Given the description of an element on the screen output the (x, y) to click on. 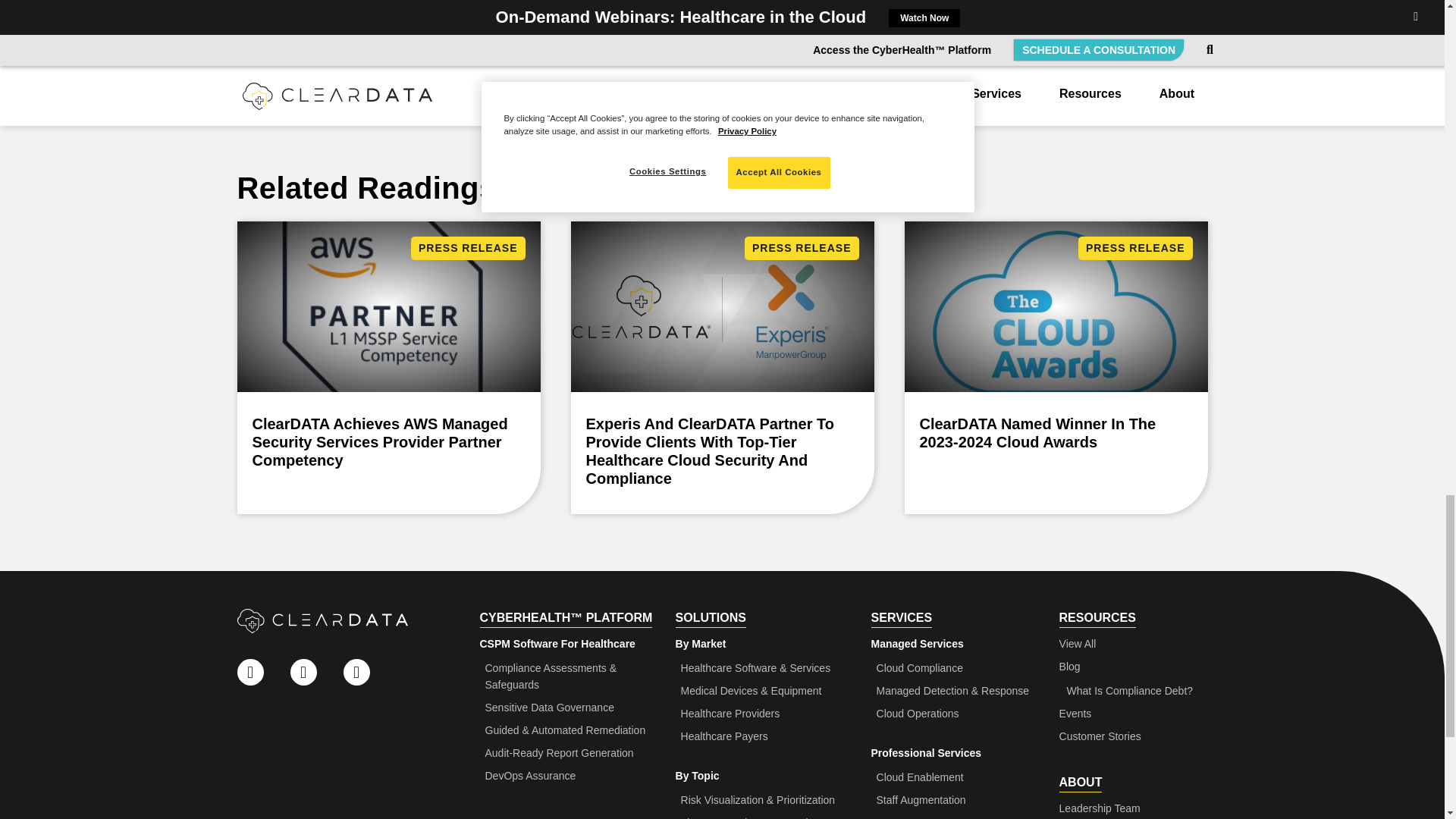
ClearDATA Named Winner in the 2023-2024 Cloud Awards (1055, 367)
